Given the description of an element on the screen output the (x, y) to click on. 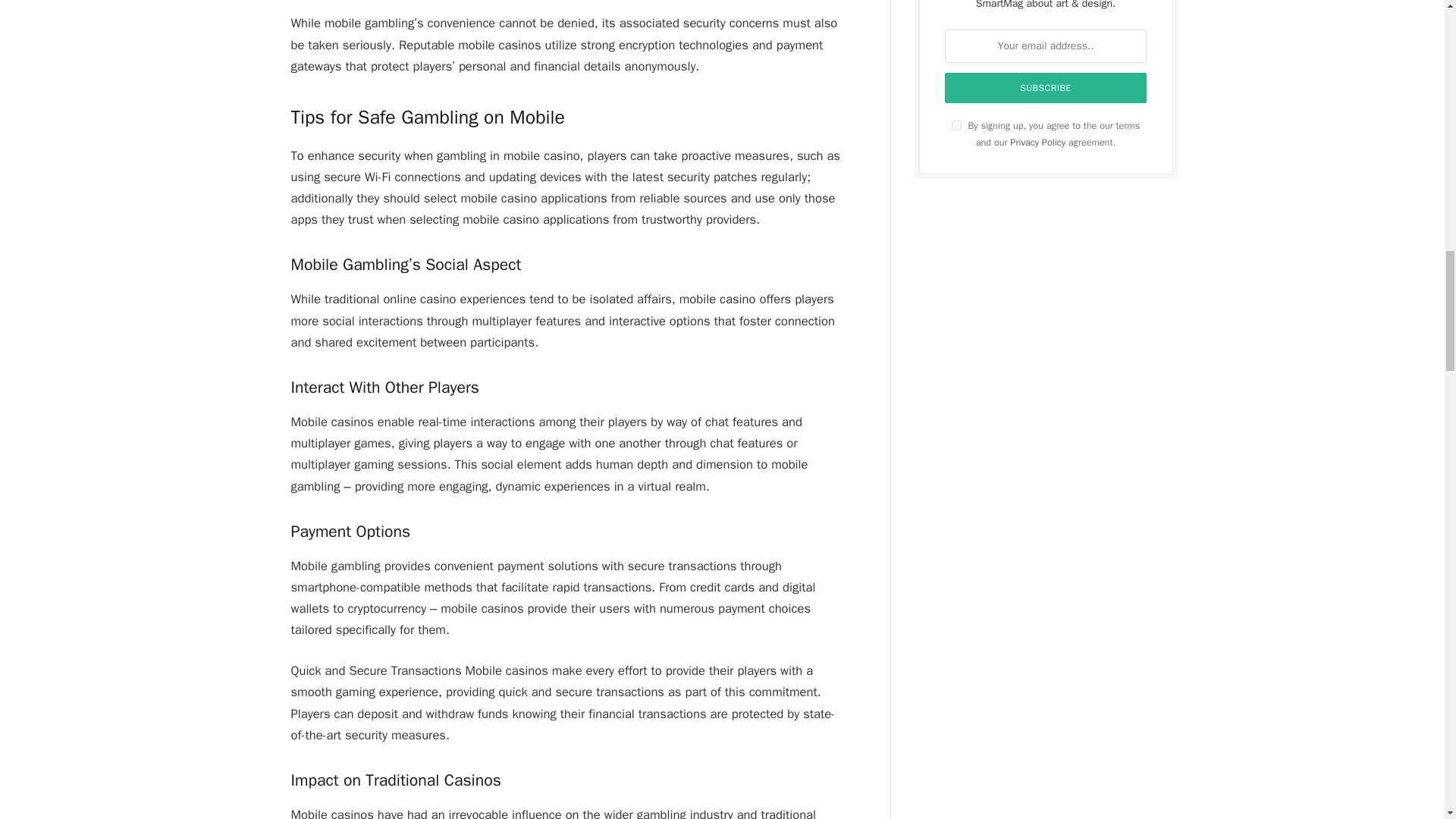
Subscribe (1045, 87)
on (956, 125)
